Given the description of an element on the screen output the (x, y) to click on. 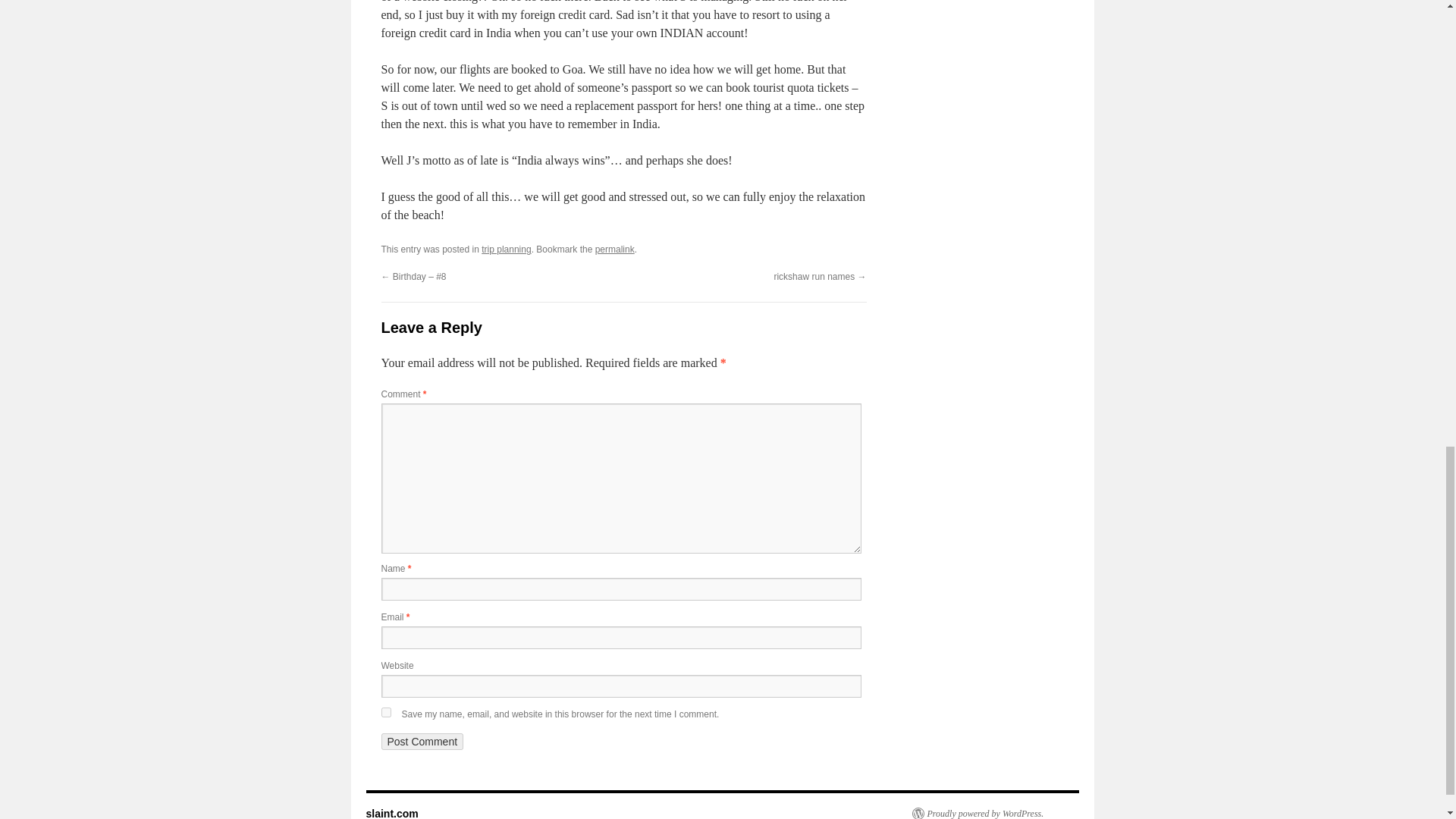
Post Comment (421, 741)
Post Comment (421, 741)
permalink (614, 249)
Permalink to goa girls weekend (614, 249)
trip planning (506, 249)
yes (385, 712)
